Given the description of an element on the screen output the (x, y) to click on. 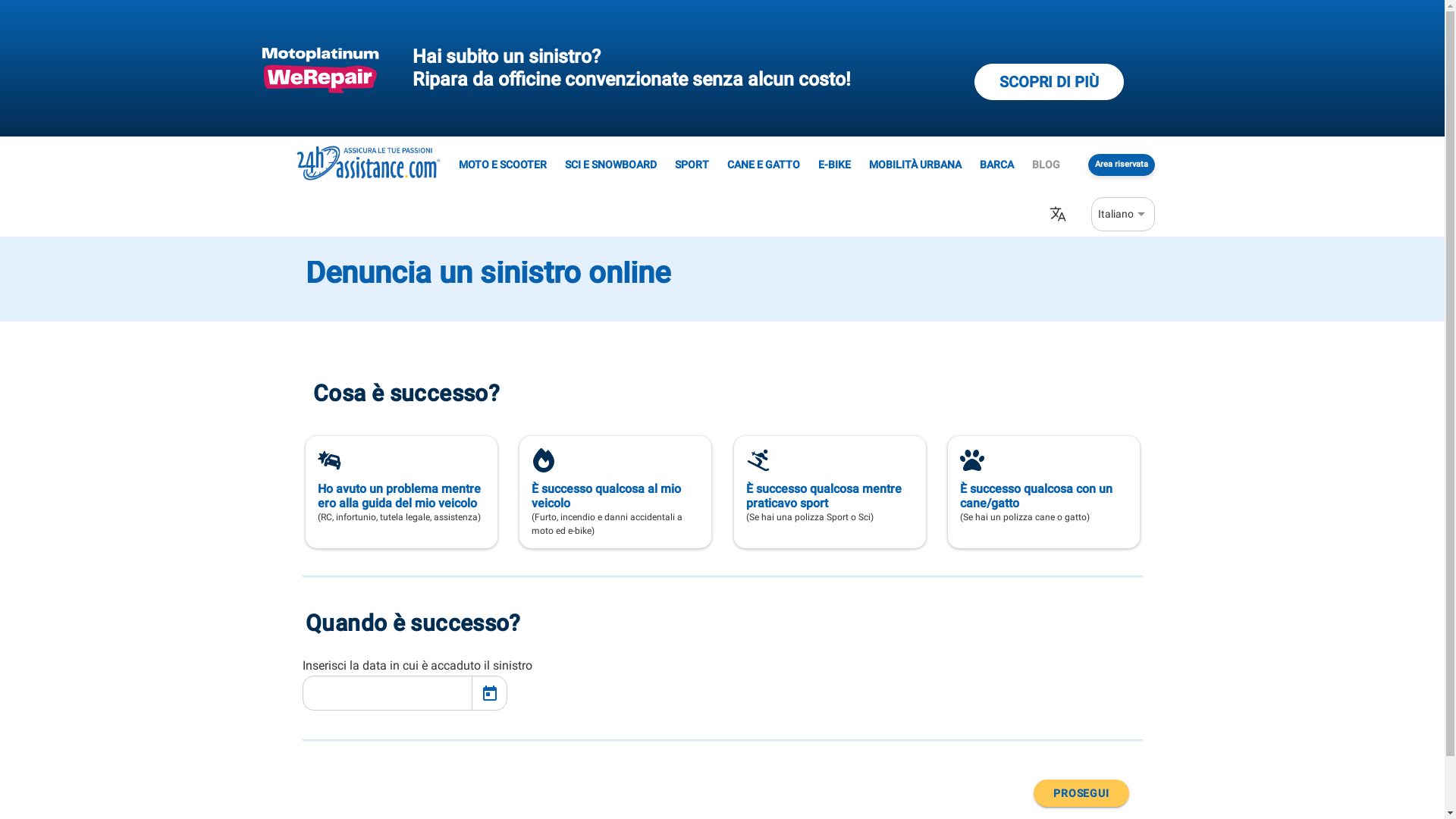
MOTO E SCOOTER Element type: text (501, 164)
SPORT Element type: text (691, 164)
BARCA Element type: text (996, 164)
Area riservata Element type: text (1120, 164)
CANE E GATTO Element type: text (762, 164)
SCI E SNOWBOARD Element type: text (610, 164)
E-BIKE Element type: text (833, 164)
BLOG Element type: text (1045, 164)
